Given the description of an element on the screen output the (x, y) to click on. 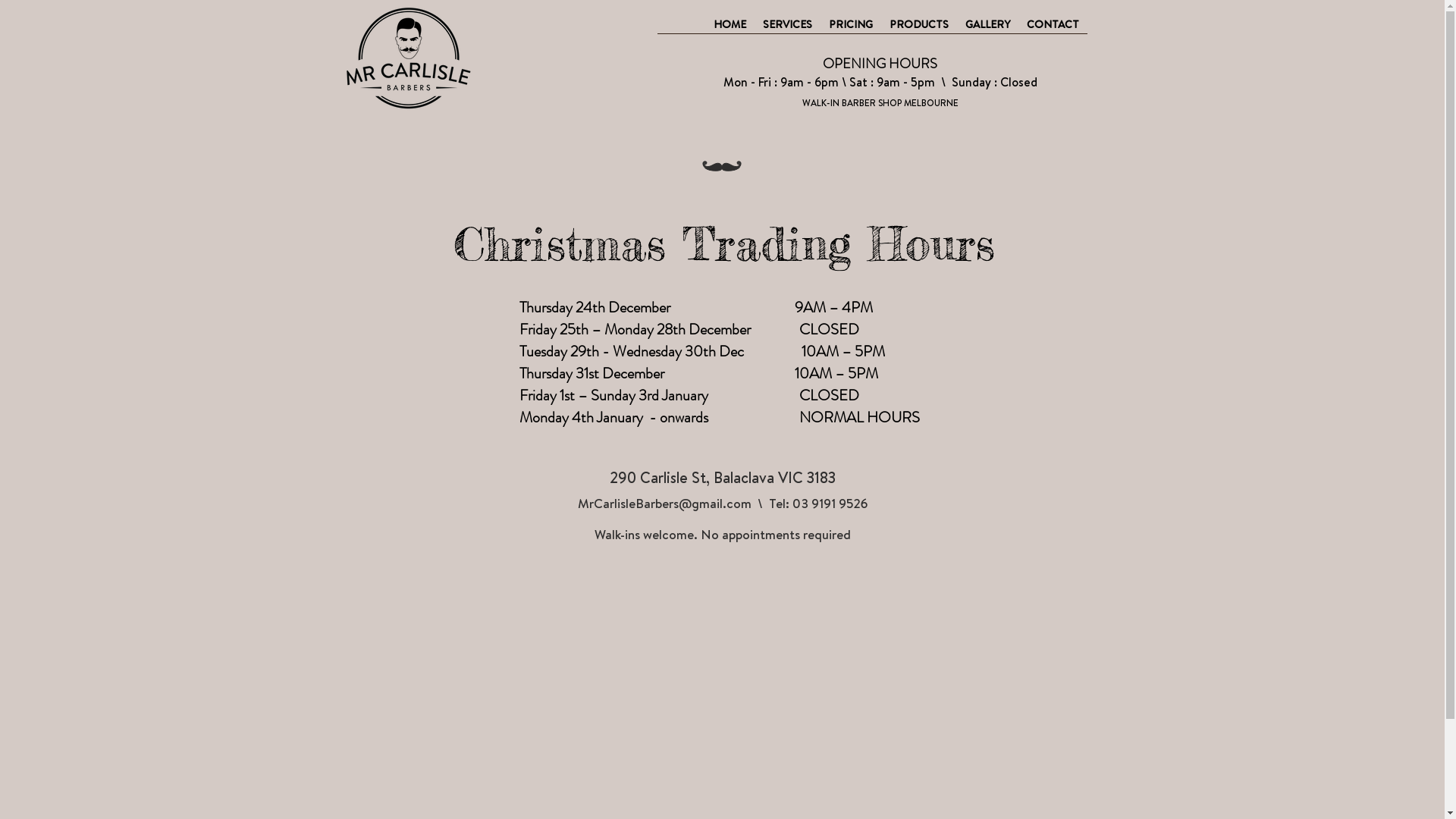
PRICING Element type: text (850, 29)
MrCarlisleBarbers@gmail.com Element type: text (664, 502)
GALLERY Element type: text (987, 29)
TWIPLA (Visitor Analytics) Element type: hover (156, 167)
Google Maps Element type: hover (726, 683)
PRODUCTS Element type: text (919, 29)
HOME Element type: text (729, 29)
CONTACT Element type: text (1051, 29)
SERVICES Element type: text (786, 29)
